Given the description of an element on the screen output the (x, y) to click on. 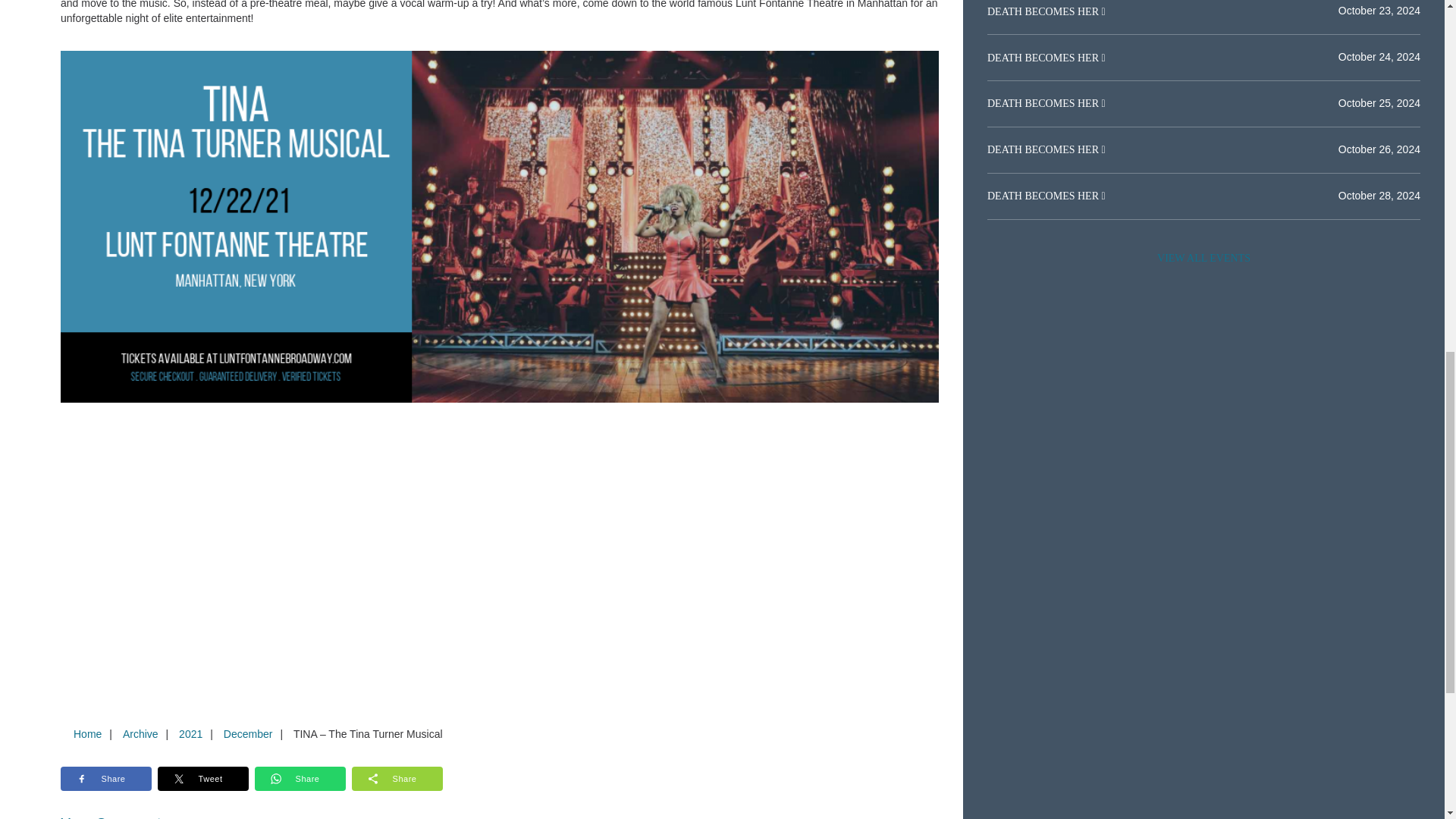
Home (87, 734)
Archive (140, 734)
VIEW ALL EVENTS (1203, 258)
2021 (190, 734)
December (248, 734)
